Given the description of an element on the screen output the (x, y) to click on. 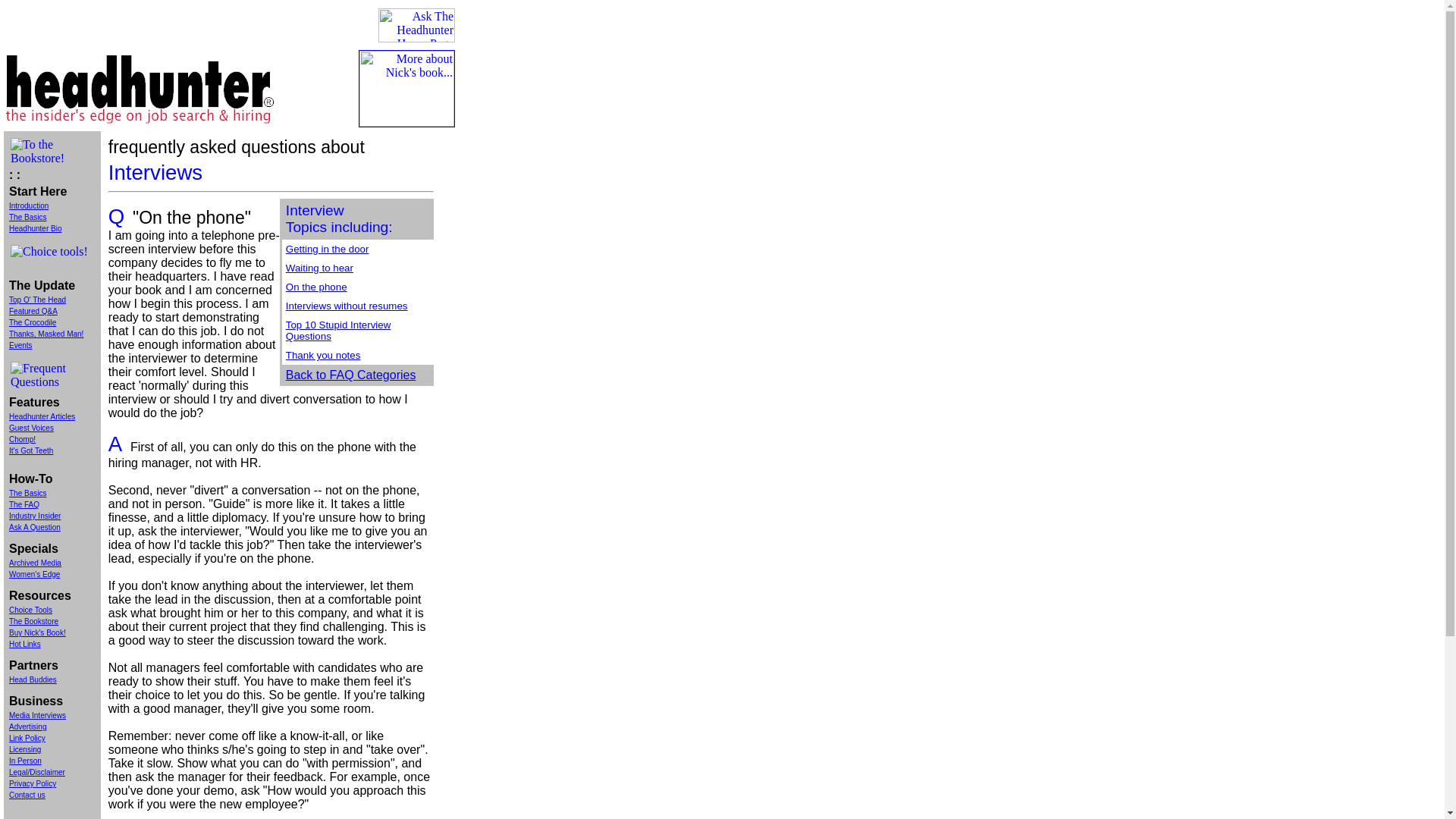
The Crocodile (32, 322)
Media Interviews (36, 715)
The Basics (27, 216)
Choice Tools (30, 610)
Buy Nick's Book! (36, 632)
Top O' The Head (36, 299)
Events (20, 345)
Link Policy (26, 737)
Women's Edge (33, 574)
Licensing (24, 749)
The FAQ (23, 504)
In Person (25, 760)
Privacy Policy (32, 783)
Headhunter Bio (35, 228)
Ask A Question (34, 527)
